Given the description of an element on the screen output the (x, y) to click on. 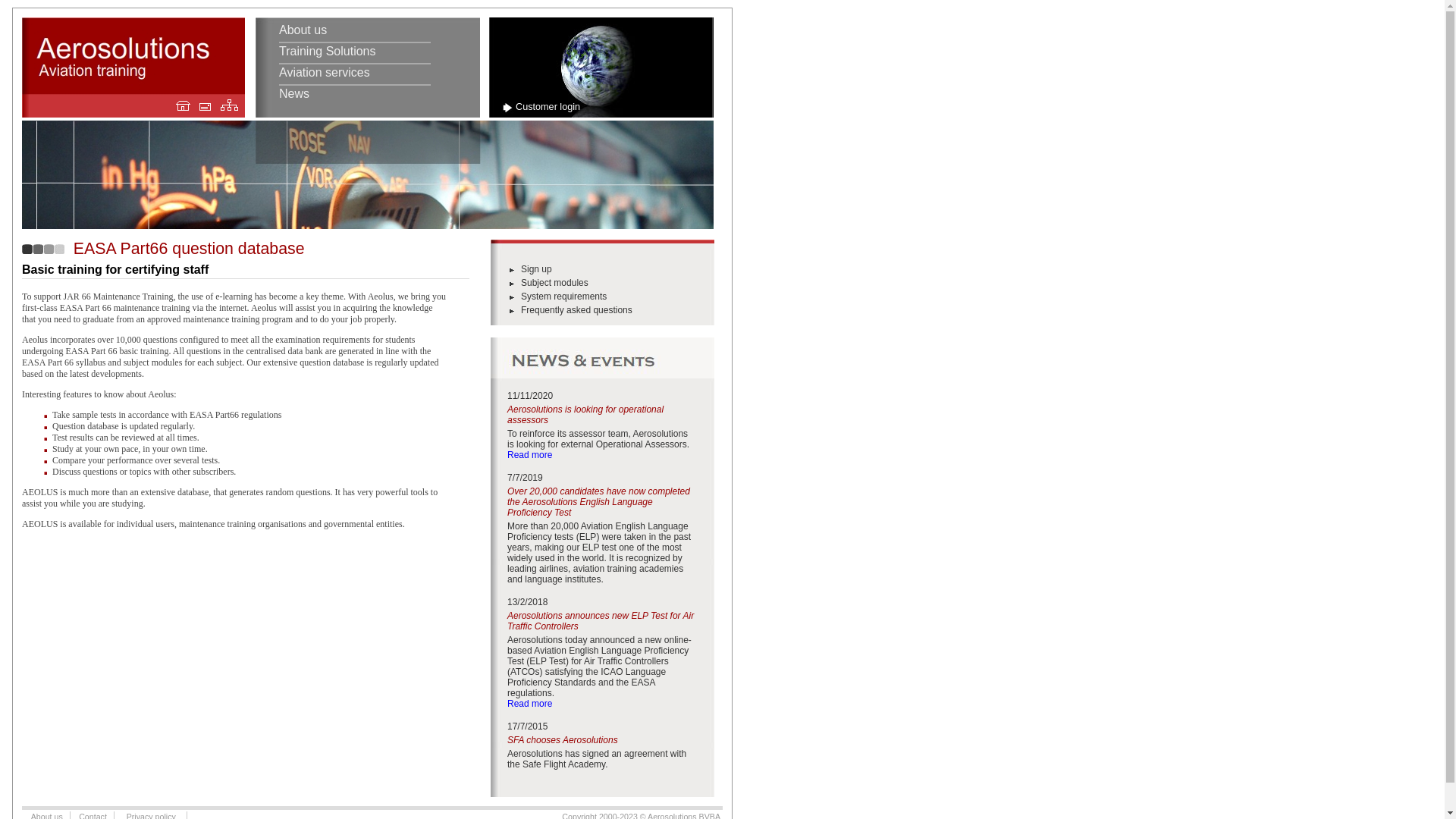
Subject modules Element type: text (554, 282)
Sitemap Element type: hover (228, 103)
Read more Element type: text (529, 703)
Frequently asked questions Element type: text (576, 309)
Home Element type: hover (182, 104)
Customer login Element type: text (547, 106)
News Element type: text (294, 93)
About us Element type: text (302, 29)
Read more Element type: text (529, 454)
Training Solutions Element type: text (327, 50)
Sign up Element type: text (536, 268)
System requirements Element type: text (563, 296)
Aviation services Element type: text (324, 71)
Contact us Element type: hover (204, 106)
